Given the description of an element on the screen output the (x, y) to click on. 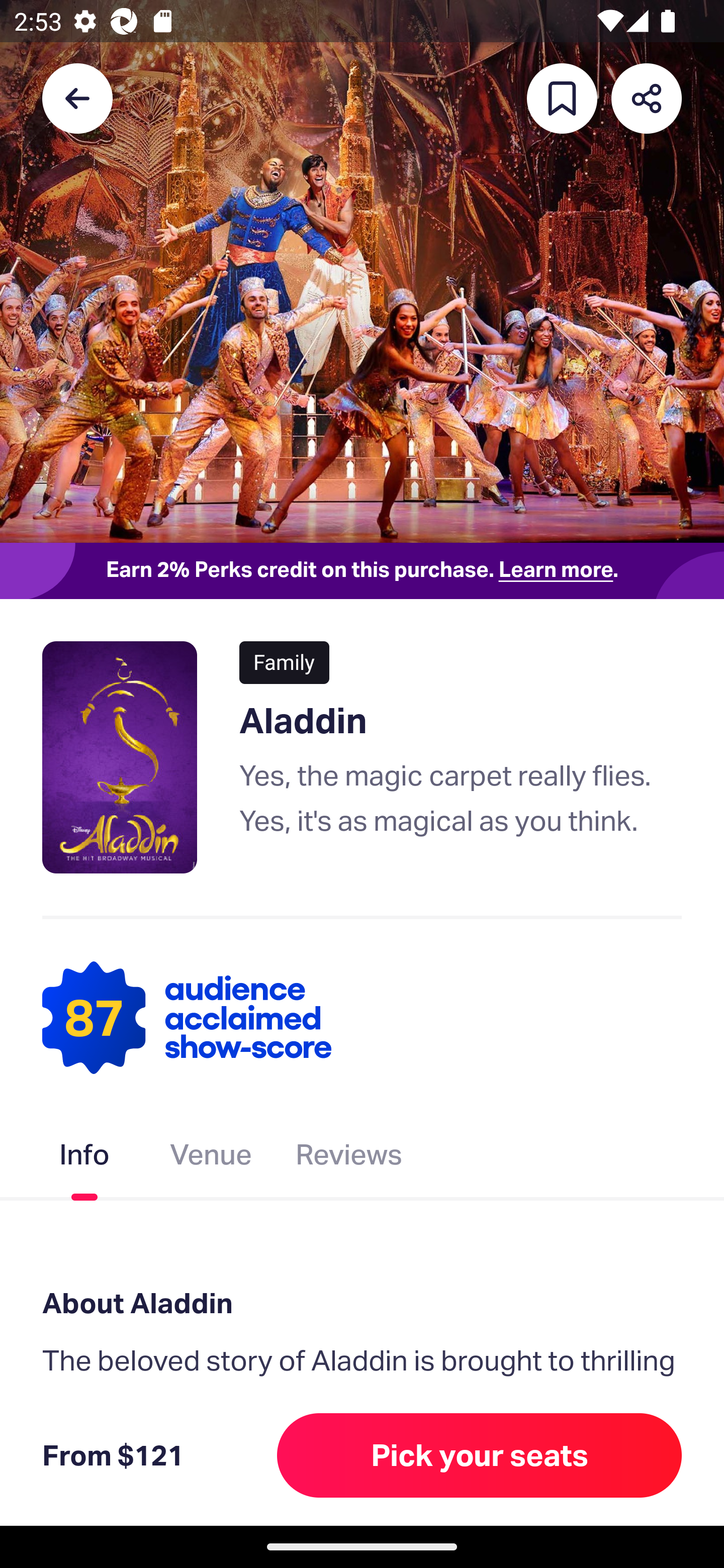
Earn 2% Perks credit on this purchase. Learn more. (362, 570)
Venue (210, 1158)
Reviews (348, 1158)
About Aladdin (361, 1303)
Pick your seats (479, 1454)
